Given the description of an element on the screen output the (x, y) to click on. 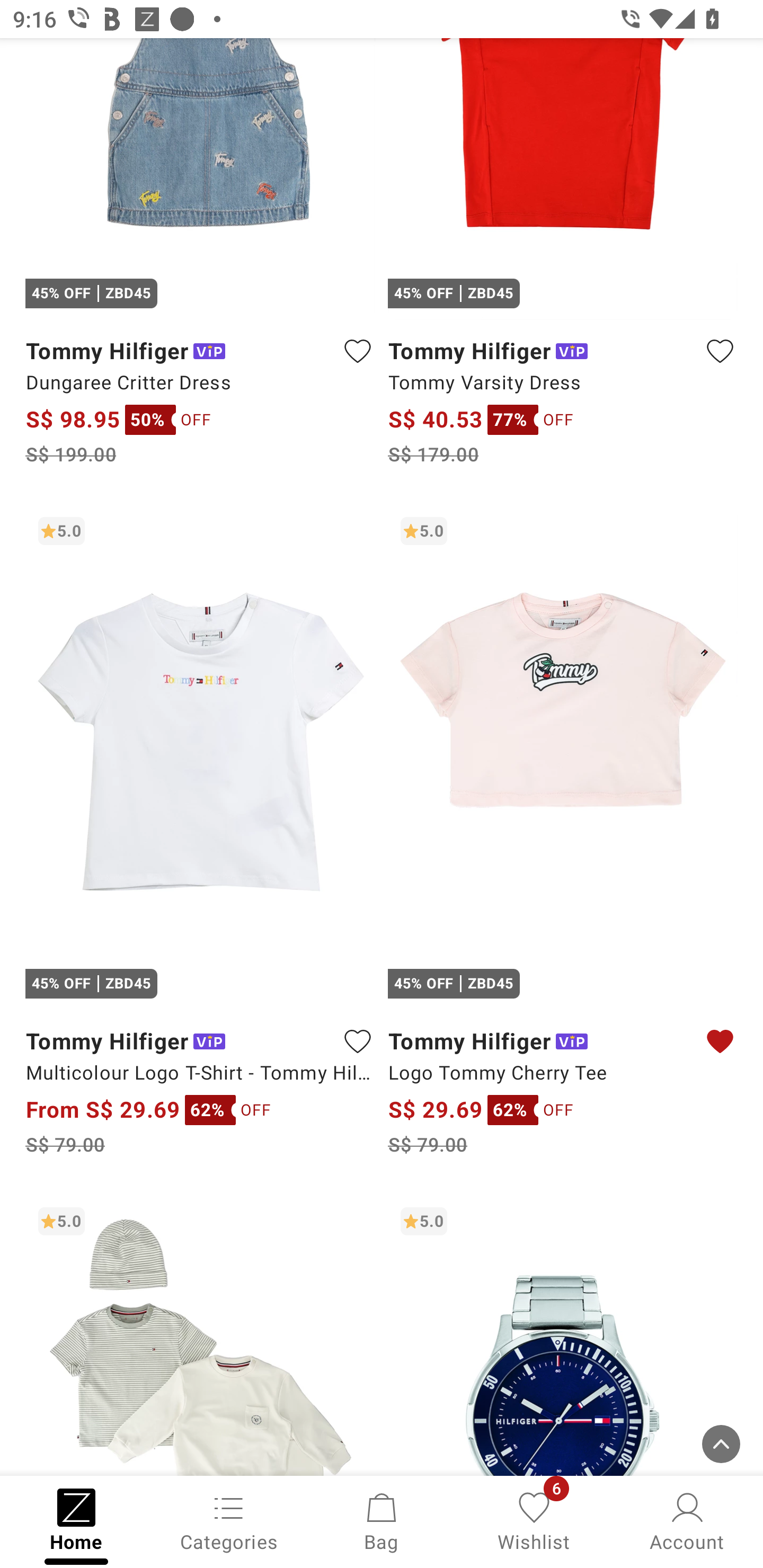
5.0 (200, 1334)
5.0 (562, 1334)
Categories (228, 1519)
Bag (381, 1519)
Wishlist, 6 new notifications Wishlist (533, 1519)
Account (686, 1519)
